Given the description of an element on the screen output the (x, y) to click on. 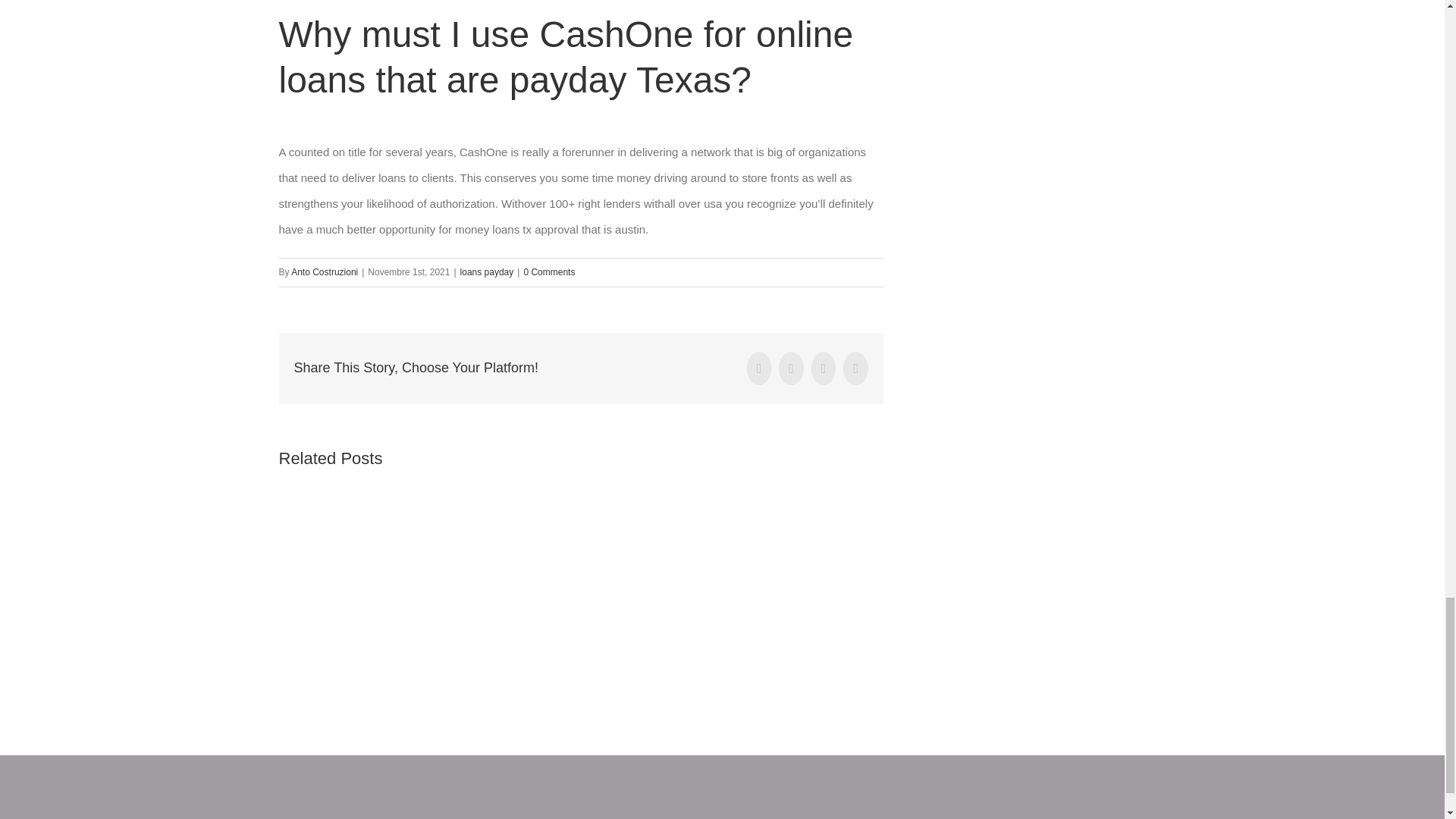
Articoli scritti da Anto Costruzioni (324, 271)
0 Comments (548, 271)
Anto Costruzioni (324, 271)
loans payday (486, 271)
